Given the description of an element on the screen output the (x, y) to click on. 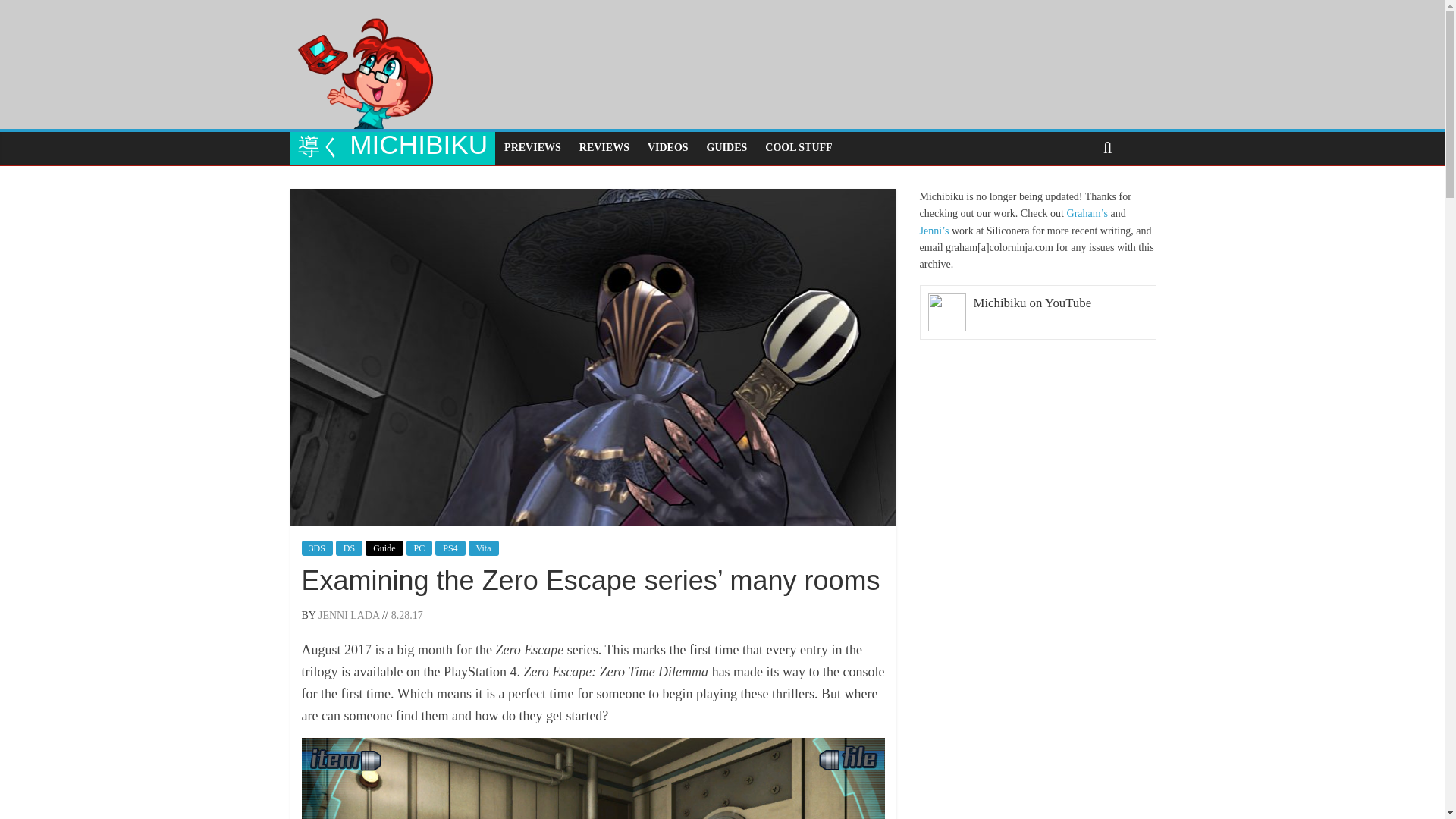
3DS (317, 548)
PS4 (449, 548)
Vita (483, 548)
PREVIEWS (532, 147)
GUIDES (727, 147)
JENNI LADA (349, 614)
REVIEWS (604, 147)
12:00 pm (407, 614)
Michibiku (392, 147)
Jenni Lada (349, 614)
